Given the description of an element on the screen output the (x, y) to click on. 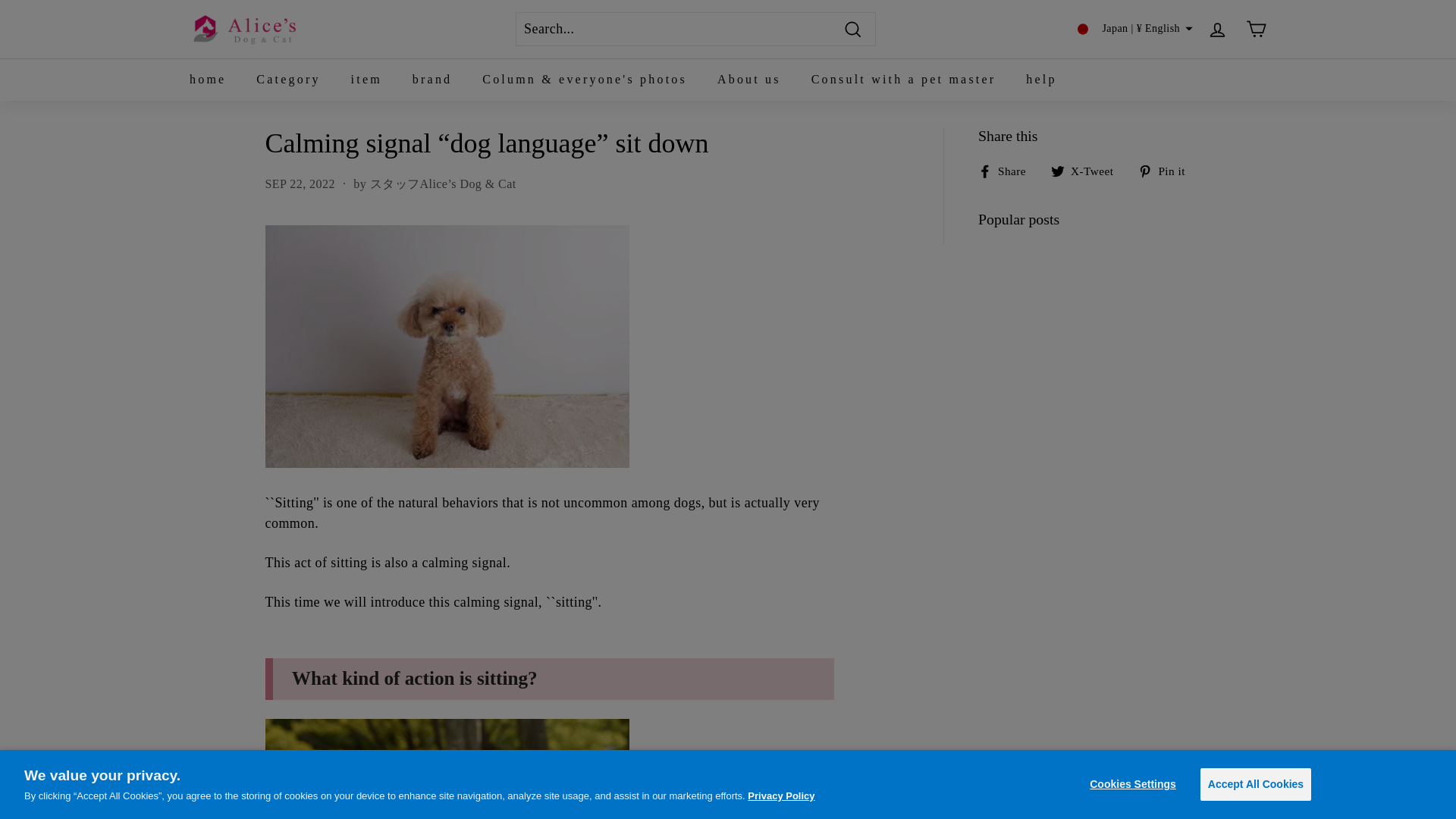
Pin on Pinterest (1166, 169)
Tweet on X-Twitter (1087, 169)
Category (287, 79)
home (207, 79)
Share on Facebook (1007, 169)
item (366, 79)
